Given the description of an element on the screen output the (x, y) to click on. 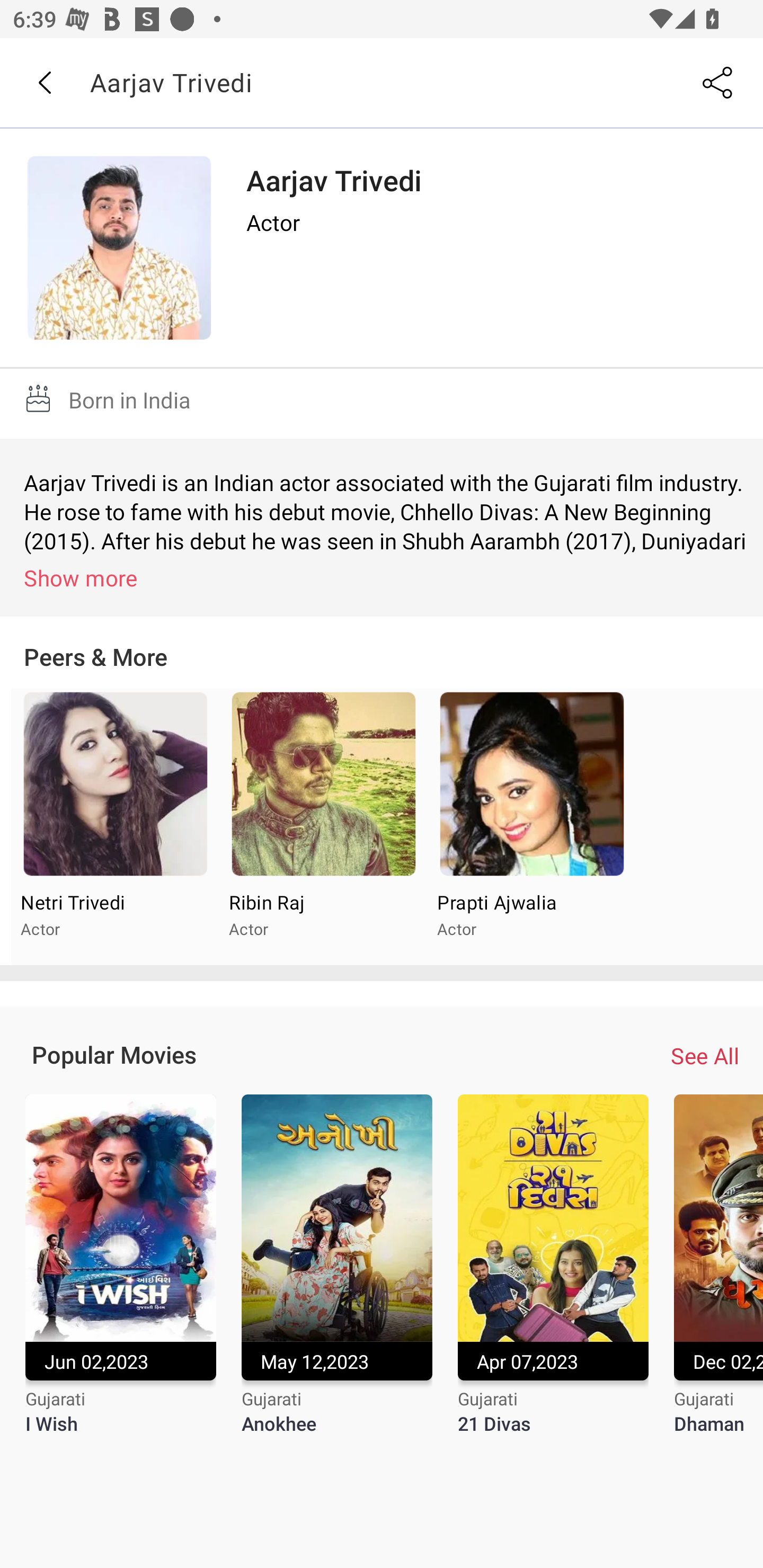
Back (44, 82)
Show more (384, 577)
Netri Trivedi Actor (115, 826)
Ribin Raj Actor (323, 826)
Prapti Ajwalia Actor (531, 826)
See All (704, 1055)
Jun 02,2023 Gujarati I Wish (120, 1276)
May 12,2023 Gujarati Anokhee (336, 1276)
Apr 07,2023 Gujarati 21 Divas (552, 1276)
